Given the description of an element on the screen output the (x, y) to click on. 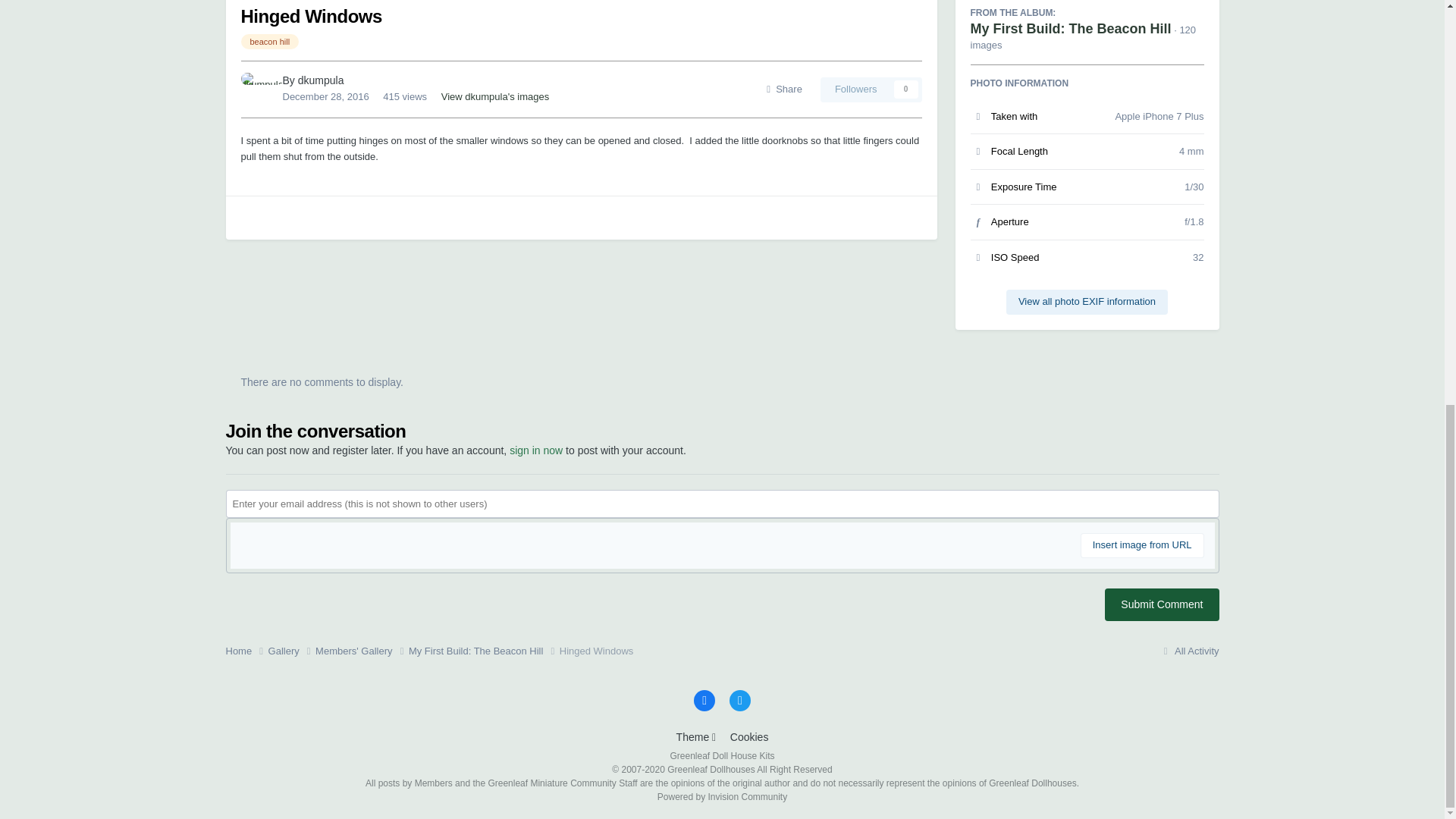
Find other content tagged with 'beacon hill' (270, 41)
Go to dkumpula's profile (258, 89)
Go to dkumpula's profile (320, 80)
